Given the description of an element on the screen output the (x, y) to click on. 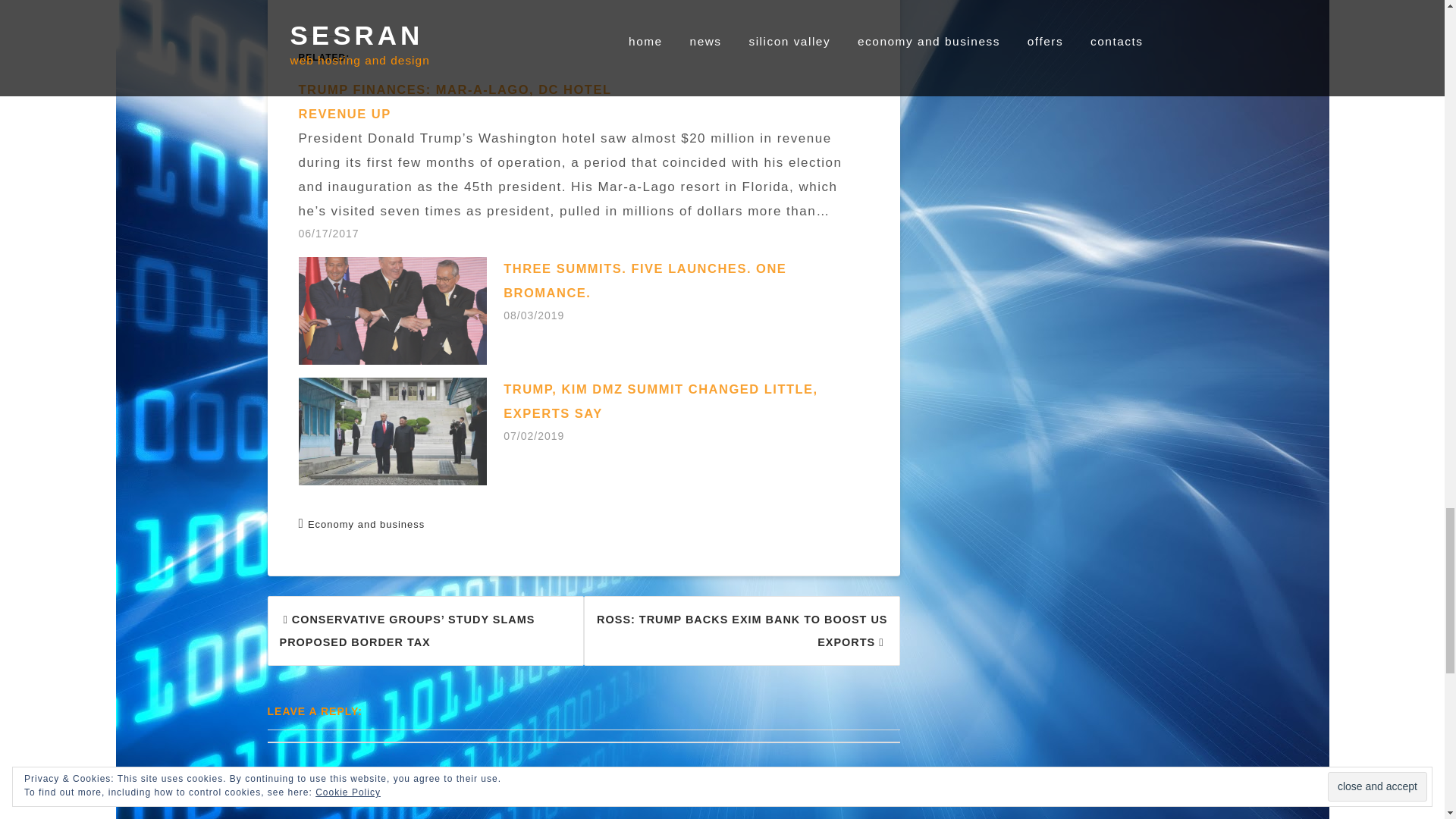
TRUMP, KIM DMZ SUMMIT CHANGED LITTLE, EXPERTS SAY (660, 401)
Comment Form (582, 780)
THREE SUMMITS. FIVE LAUNCHES. ONE BROMANCE. (644, 280)
Trump Finances: Mar-a-Lago, DC Hotel Revenue Up (454, 101)
Three Summits. Five Launches. One Bromance. (644, 280)
Trump Finances: Mar-a-Lago, DC Hotel Revenue Up (590, 160)
Trump, Kim DMZ Summit Changed Little, Experts Say (660, 401)
TRUMP FINANCES: MAR-A-LAGO, DC HOTEL REVENUE UP (454, 101)
ROSS: TRUMP BACKS EXIM BANK TO BOOST US EXPORTS (741, 630)
Economy and business (366, 523)
